Given the description of an element on the screen output the (x, y) to click on. 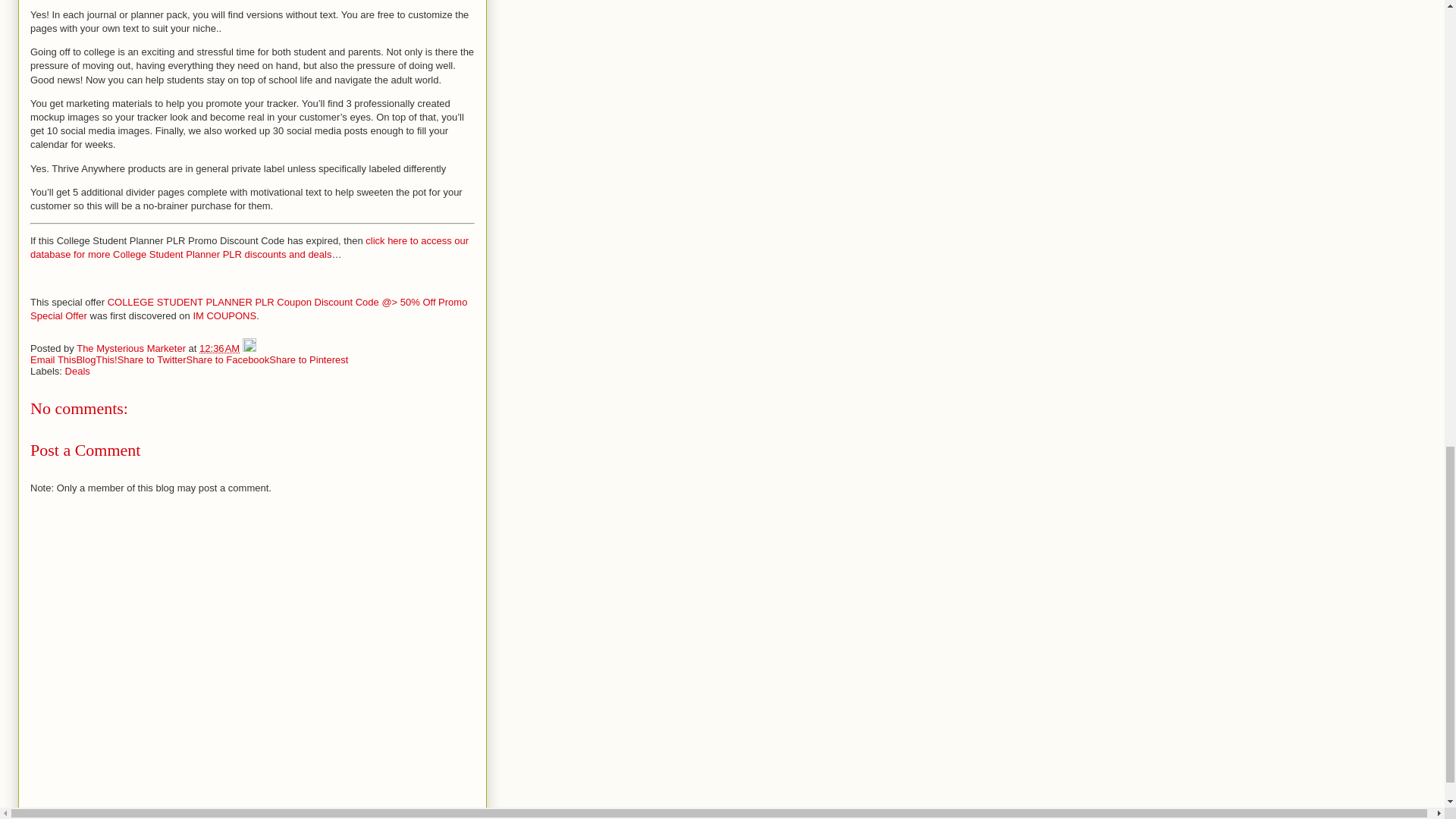
Share to Facebook (227, 359)
Share to Pinterest (308, 359)
The Mysterious Marketer (132, 347)
Share to Twitter (151, 359)
IM COUPONS (224, 315)
Edit Post (249, 347)
Email This (52, 359)
BlogThis! (95, 359)
